Given the description of an element on the screen output the (x, y) to click on. 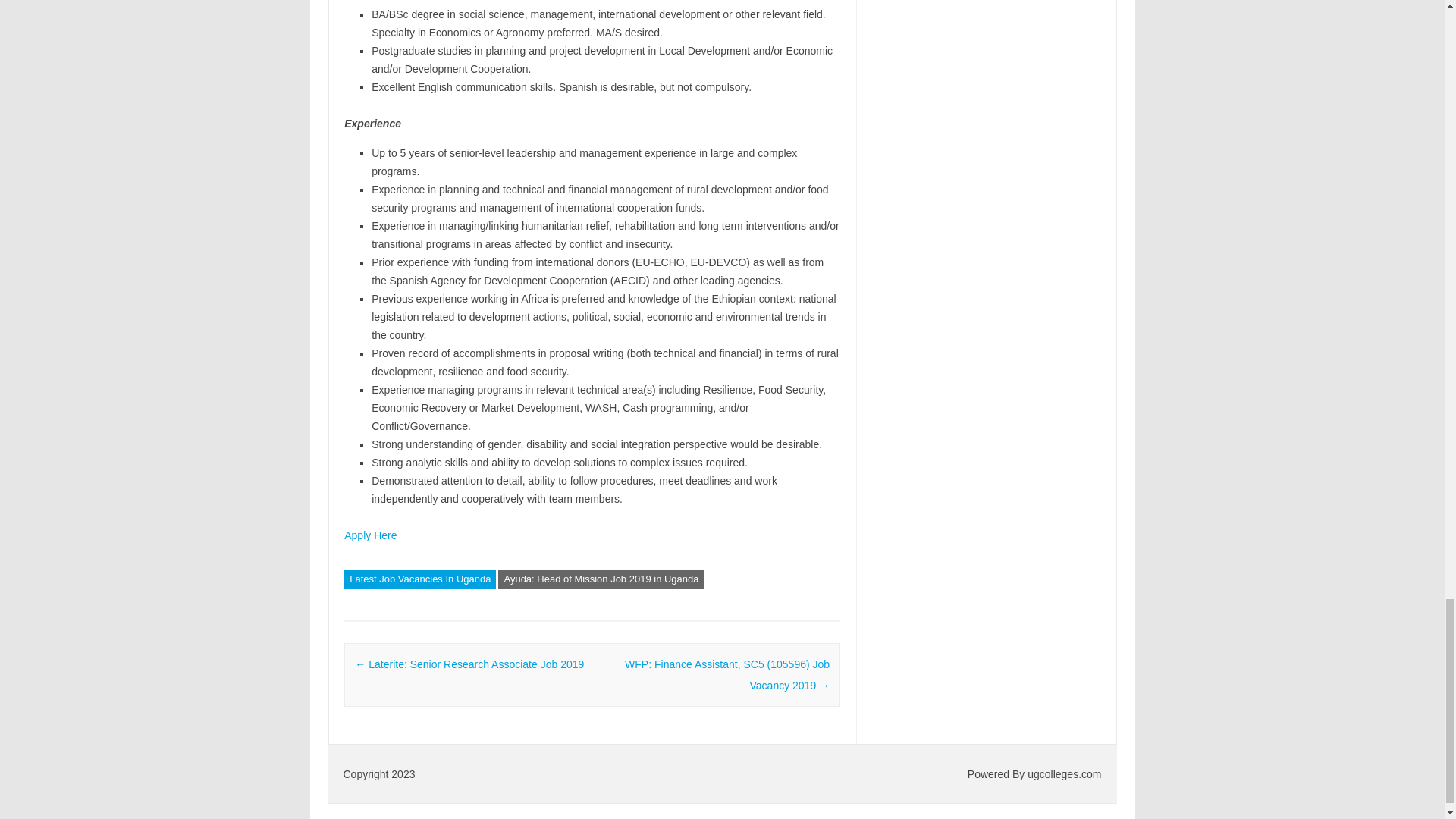
Ayuda: Head of Mission Job 2019 in Uganda (600, 578)
Latest Job Vacancies In Uganda (419, 578)
Apply Here (369, 535)
